Given the description of an element on the screen output the (x, y) to click on. 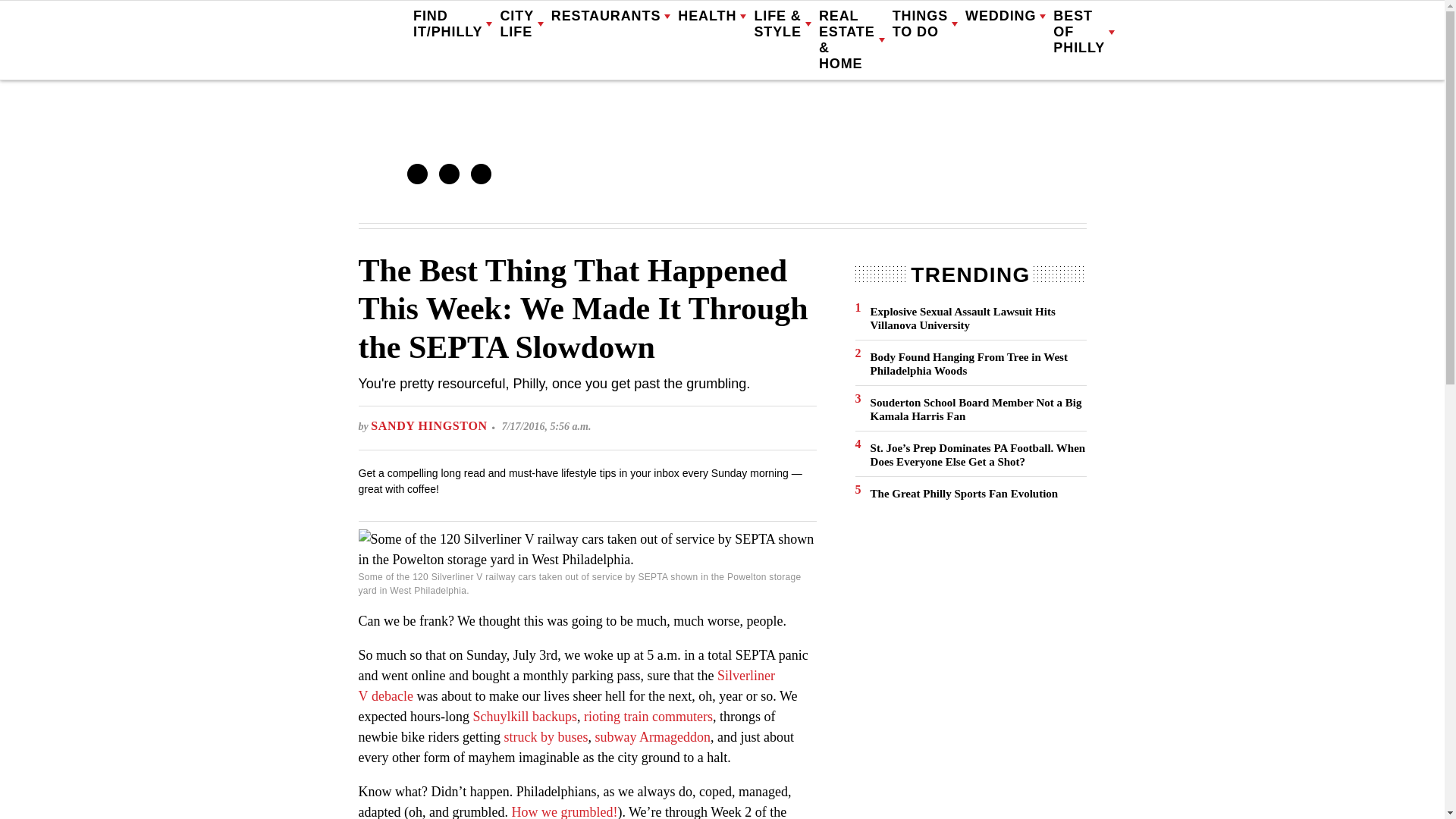
HEALTH (711, 15)
WEDDING (1005, 15)
RESTAURANTS (611, 15)
CITY LIFE (521, 23)
THINGS TO DO (925, 23)
BEST OF PHILLY (1083, 31)
